Given the description of an element on the screen output the (x, y) to click on. 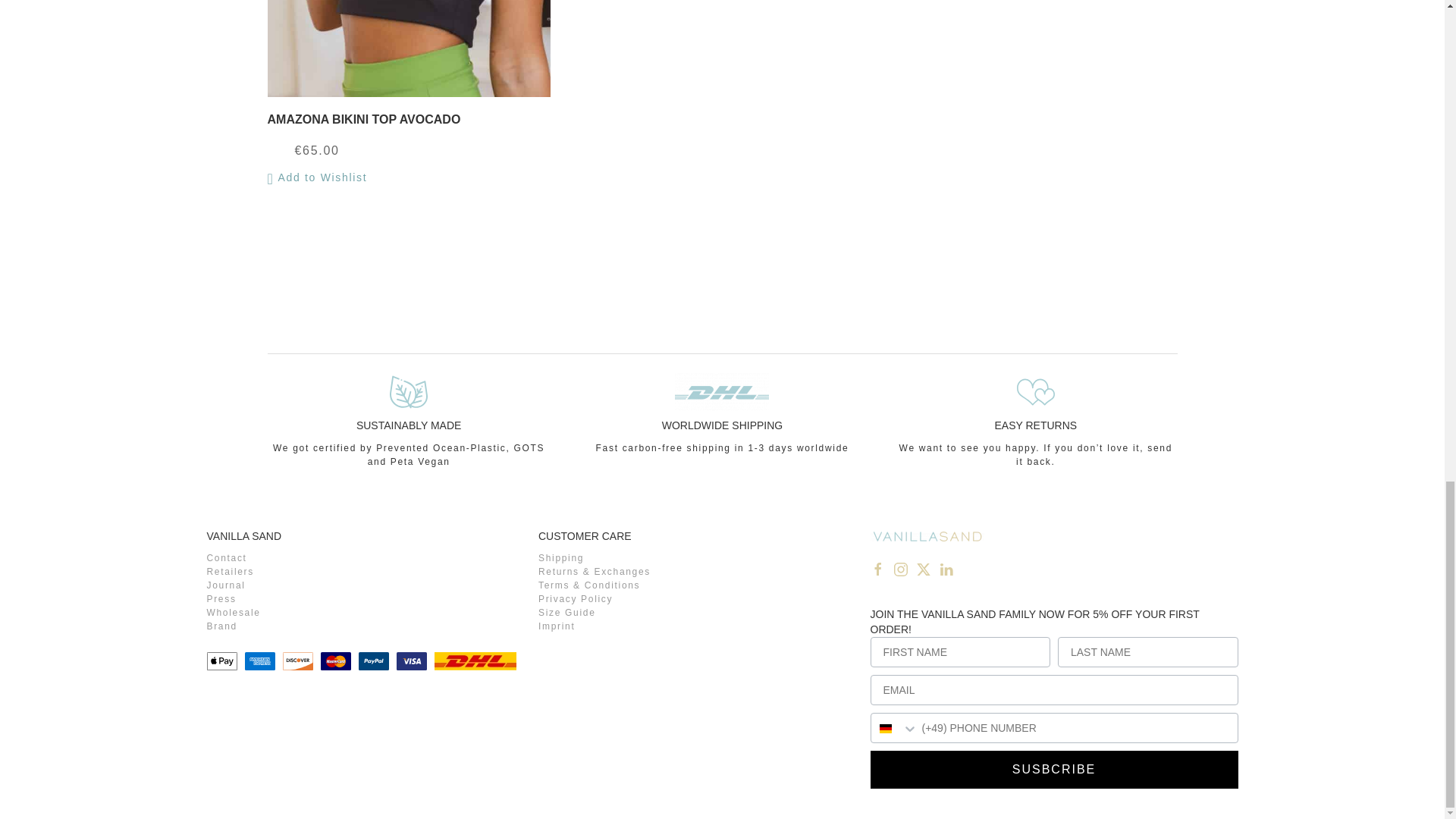
Germany (885, 728)
